Given the description of an element on the screen output the (x, y) to click on. 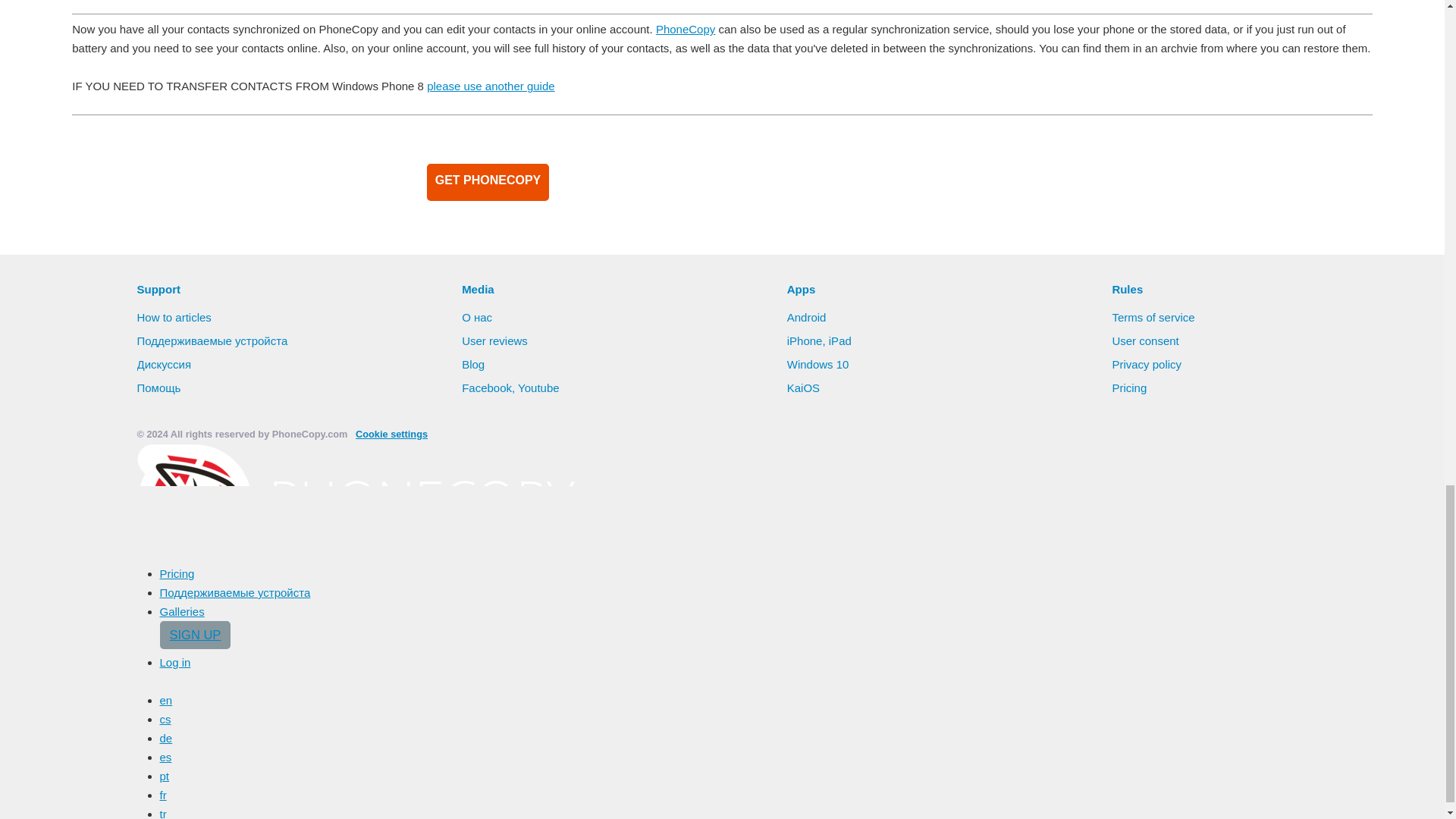
Android app on Google Play (644, 180)
Available on Apple App store (800, 180)
Download from Windows Store (956, 180)
